Given the description of an element on the screen output the (x, y) to click on. 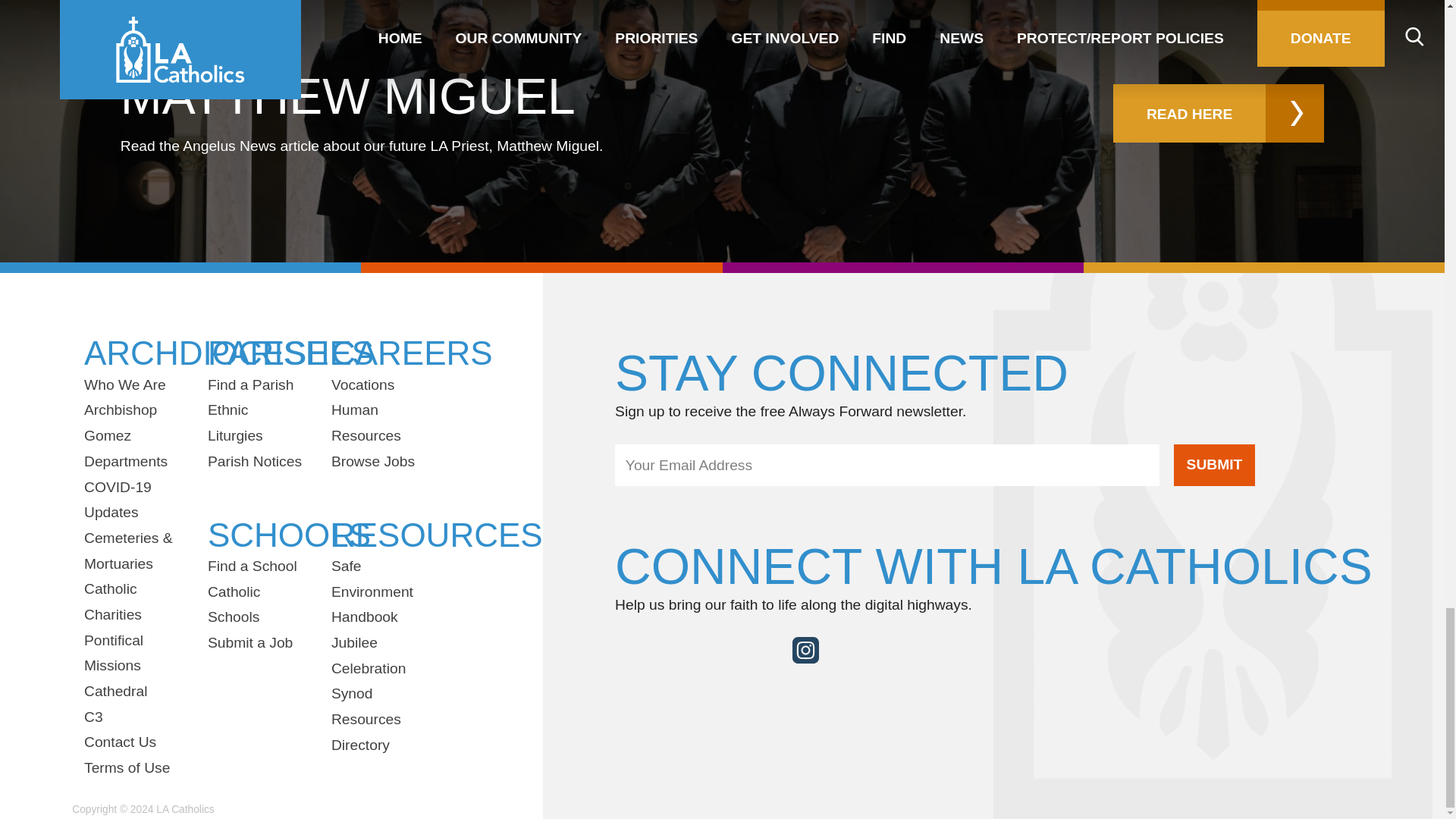
Submit (1214, 465)
